Given the description of an element on the screen output the (x, y) to click on. 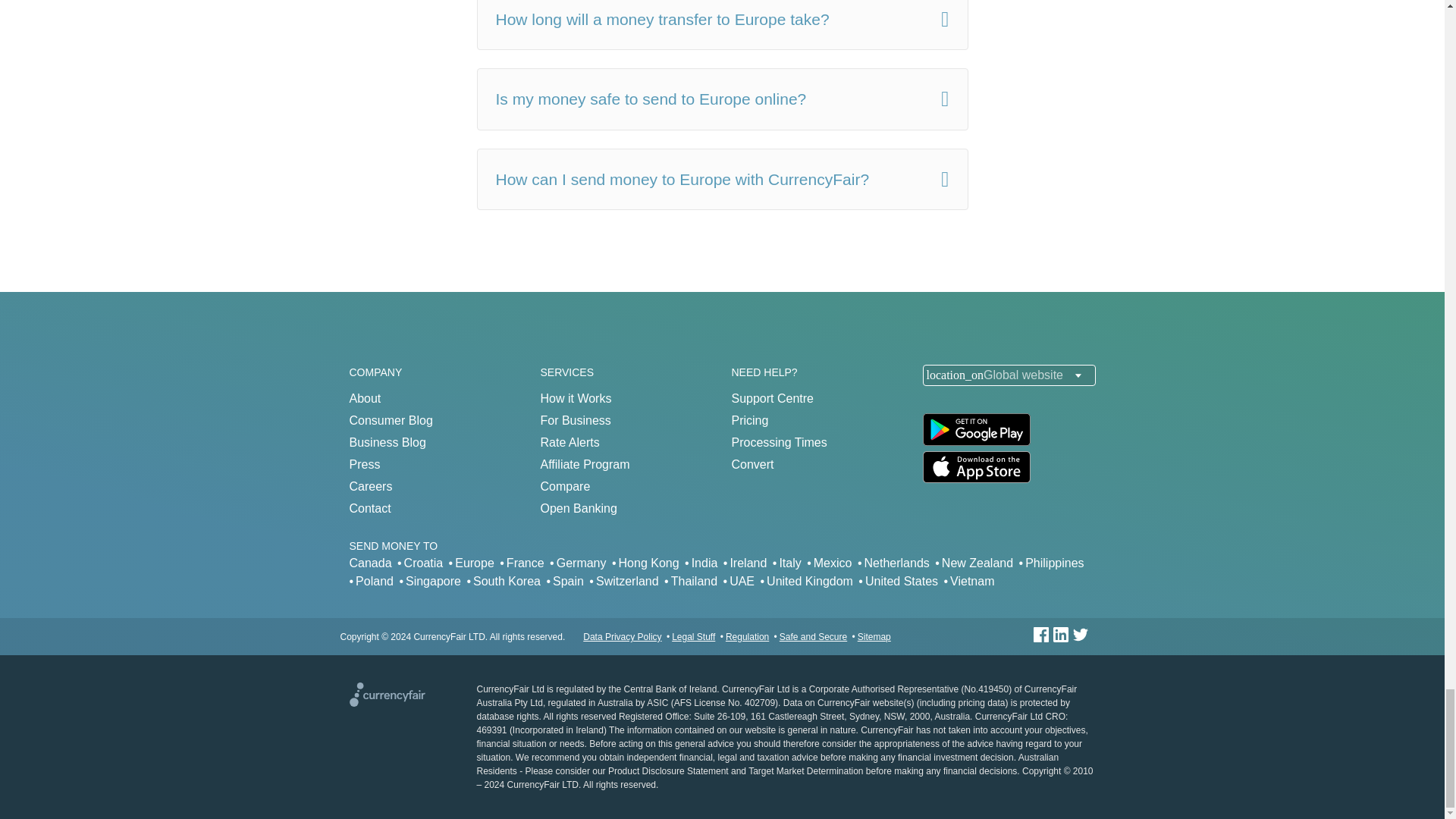
For Business (575, 420)
Consumer Blog (390, 420)
Pricing (749, 420)
How it Works (575, 398)
Get the app on IOS (975, 478)
Press (364, 463)
Processing Times (778, 441)
Convert (751, 463)
Data Privacy Policy (622, 636)
Rate Alerts (569, 441)
Affiliate Program (584, 463)
Compare (564, 486)
Open Banking (577, 508)
Support Centre (771, 398)
Contact (369, 508)
